Given the description of an element on the screen output the (x, y) to click on. 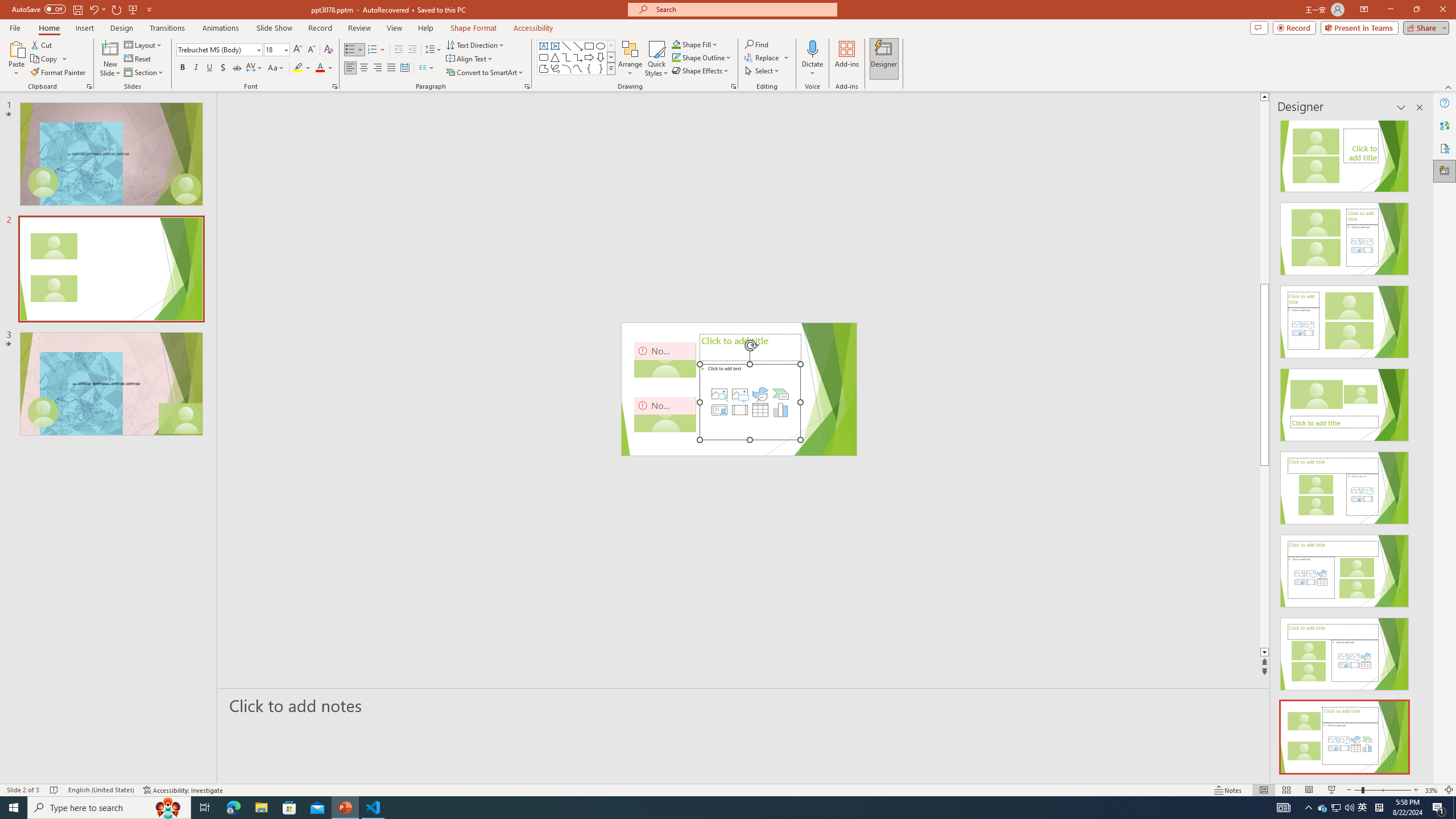
Insert Video (739, 409)
Design Idea (1344, 733)
